Given the description of an element on the screen output the (x, y) to click on. 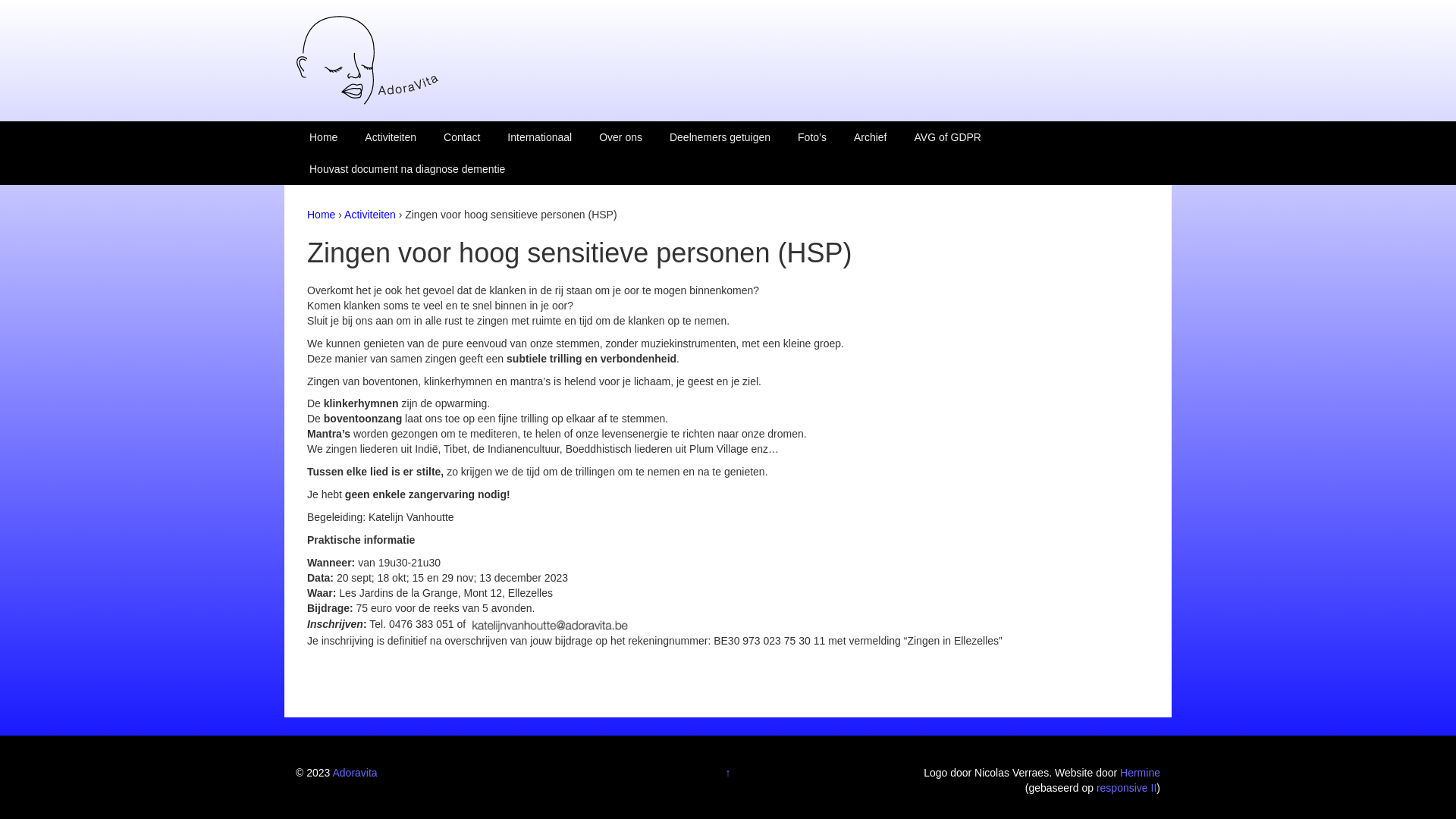
Activiteiten Element type: text (369, 214)
Adoravita Element type: hover (367, 59)
AVG of GDPR Element type: text (947, 137)
Houvast document na diagnose dementie Element type: text (406, 168)
Internationaal Element type: text (539, 137)
Archief Element type: text (870, 137)
Skip to main menu Element type: text (43, 7)
Hermine Element type: text (1140, 772)
Skip to content Element type: text (35, 7)
Deelnemers getuigen Element type: text (719, 137)
Adoravita Element type: text (354, 772)
Home Element type: text (323, 137)
Contact Element type: text (461, 137)
Activiteiten Element type: text (390, 137)
Home Element type: text (321, 214)
Over ons Element type: text (620, 137)
responsive II Element type: text (1126, 787)
